Given the description of an element on the screen output the (x, y) to click on. 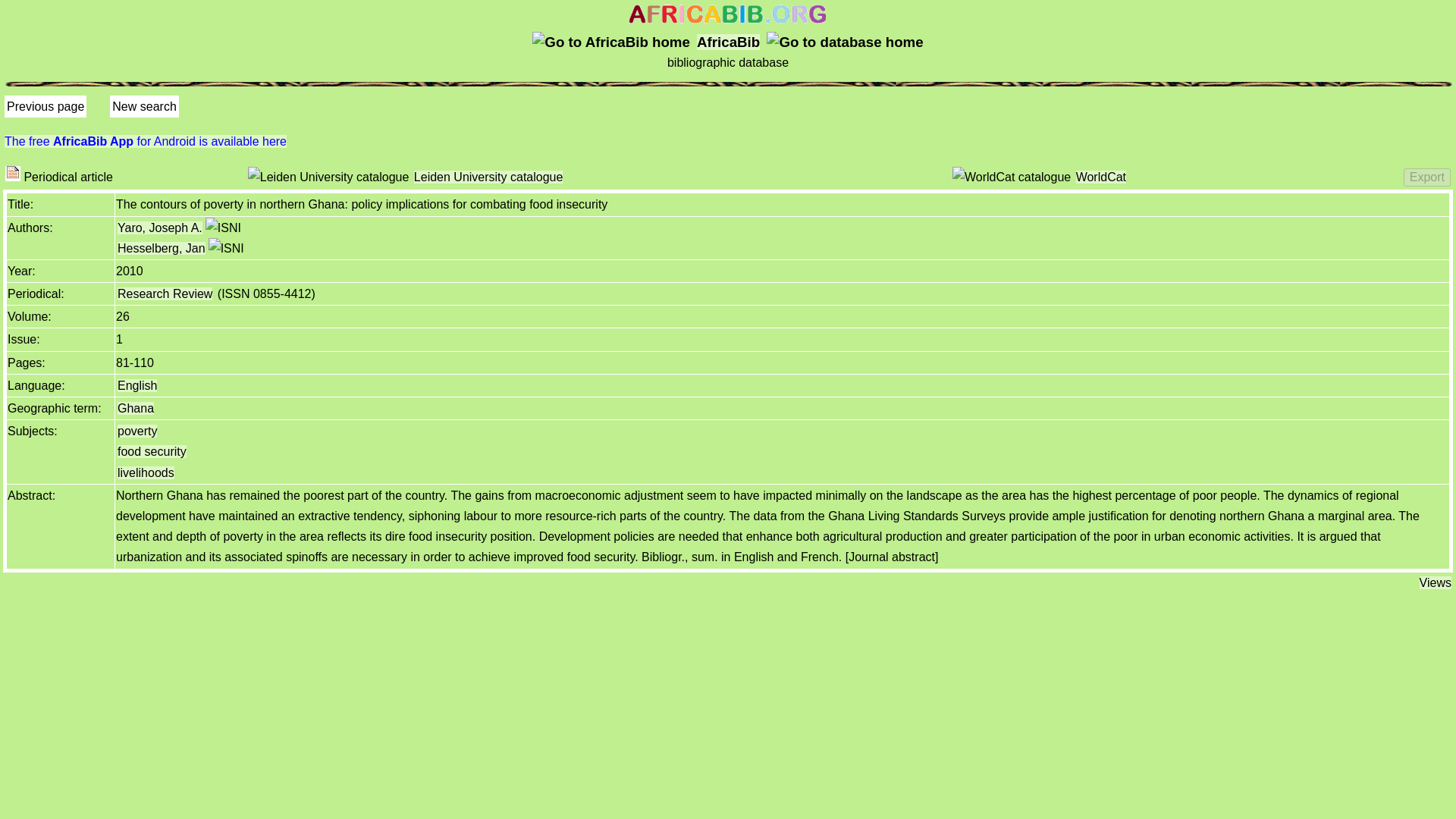
Leiden University catalogue (328, 177)
ISNI (223, 227)
food security (151, 451)
Go to database home (845, 41)
WorldCat catalogue (1011, 177)
New search (144, 106)
Go to AfricaBib home (727, 14)
poverty (137, 431)
Research Review (164, 293)
Leiden University catalogue (488, 176)
Yaro, Joseph A. (159, 227)
The free AfricaBib App for Android is available here (145, 141)
Hesselberg, Jan (161, 247)
WorldCat (1100, 176)
Ghana (135, 408)
